Given the description of an element on the screen output the (x, y) to click on. 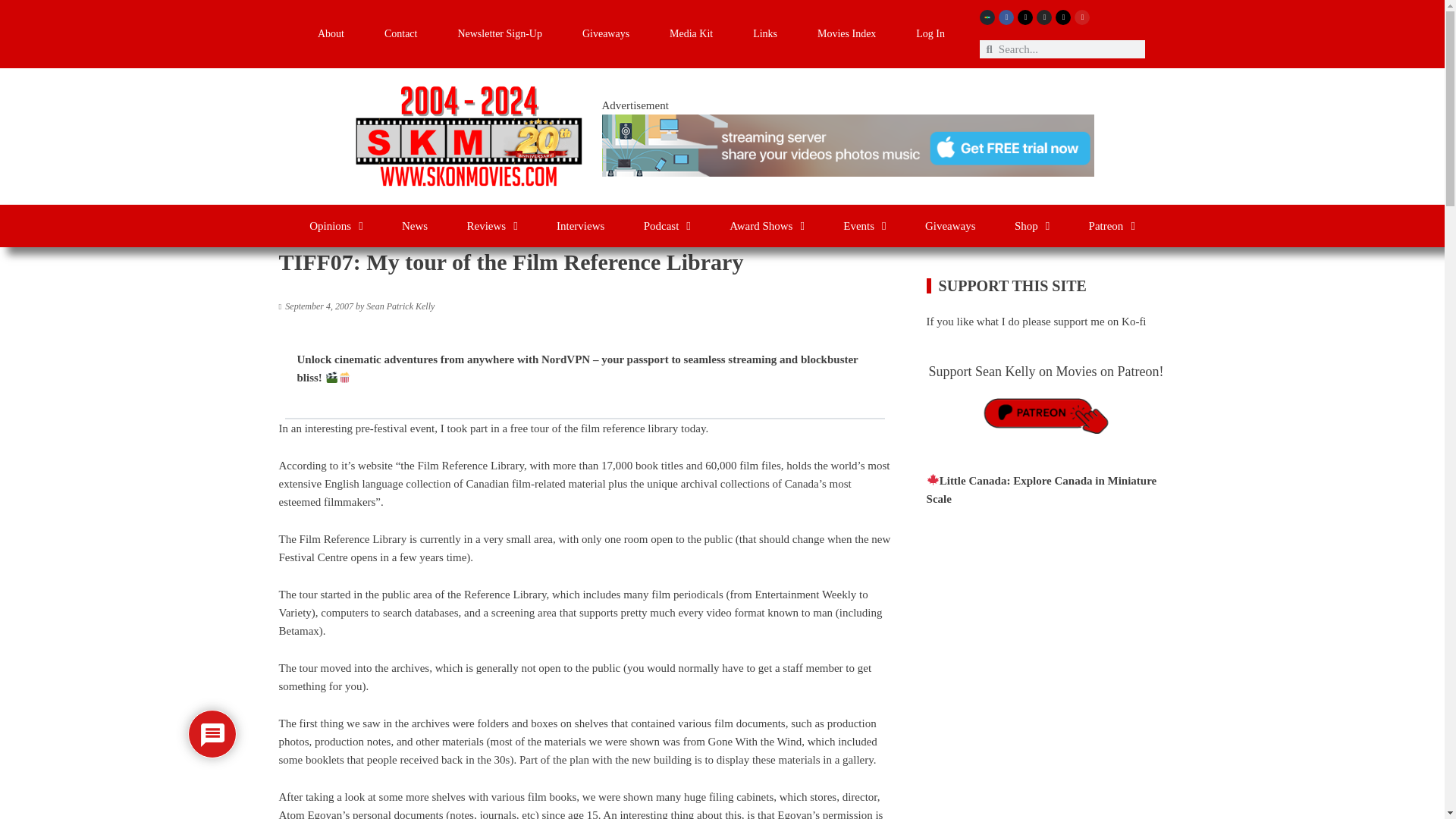
Reviews (491, 225)
Contact (400, 34)
Giveaways (605, 34)
Opinions (335, 225)
Movies Index (846, 34)
Links (765, 34)
About (330, 34)
Log In (930, 34)
Advertisement (1046, 769)
Newsletter Sign-Up (500, 34)
Media Kit (691, 34)
News (413, 225)
